Given the description of an element on the screen output the (x, y) to click on. 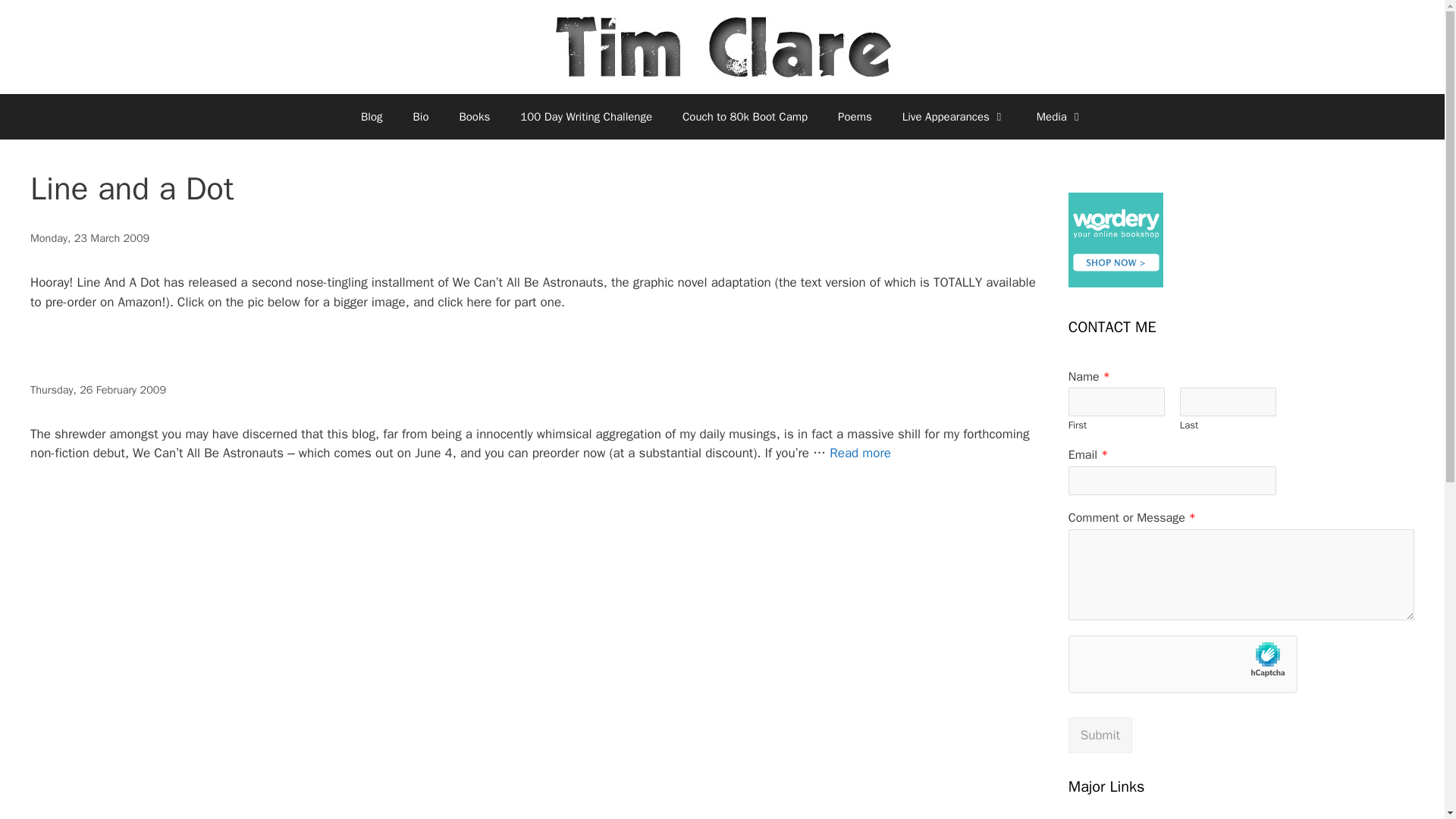
Poems (854, 116)
100 Day Writing Challenge (585, 116)
Live Appearances (954, 116)
Books (474, 116)
Read more (860, 453)
Bio (420, 116)
Couch to 80k Boot Camp (744, 116)
Blog (371, 116)
Media (1060, 116)
Submit (1100, 735)
